Given the description of an element on the screen output the (x, y) to click on. 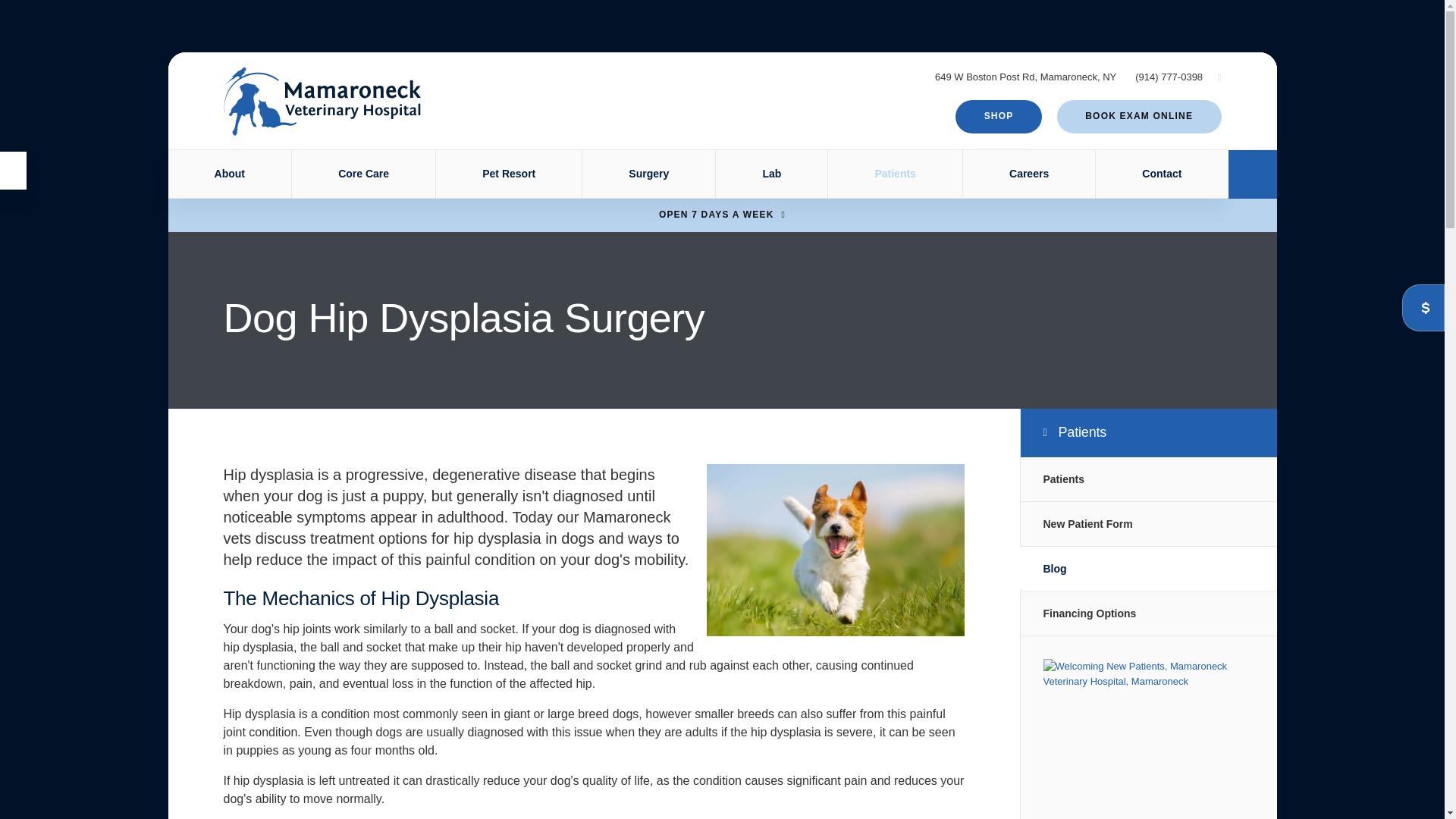
SHOP (998, 116)
BOOK EXAM ONLINE (1139, 116)
649 W Boston Post Rd Mamaroneck NY (1025, 76)
